Given the description of an element on the screen output the (x, y) to click on. 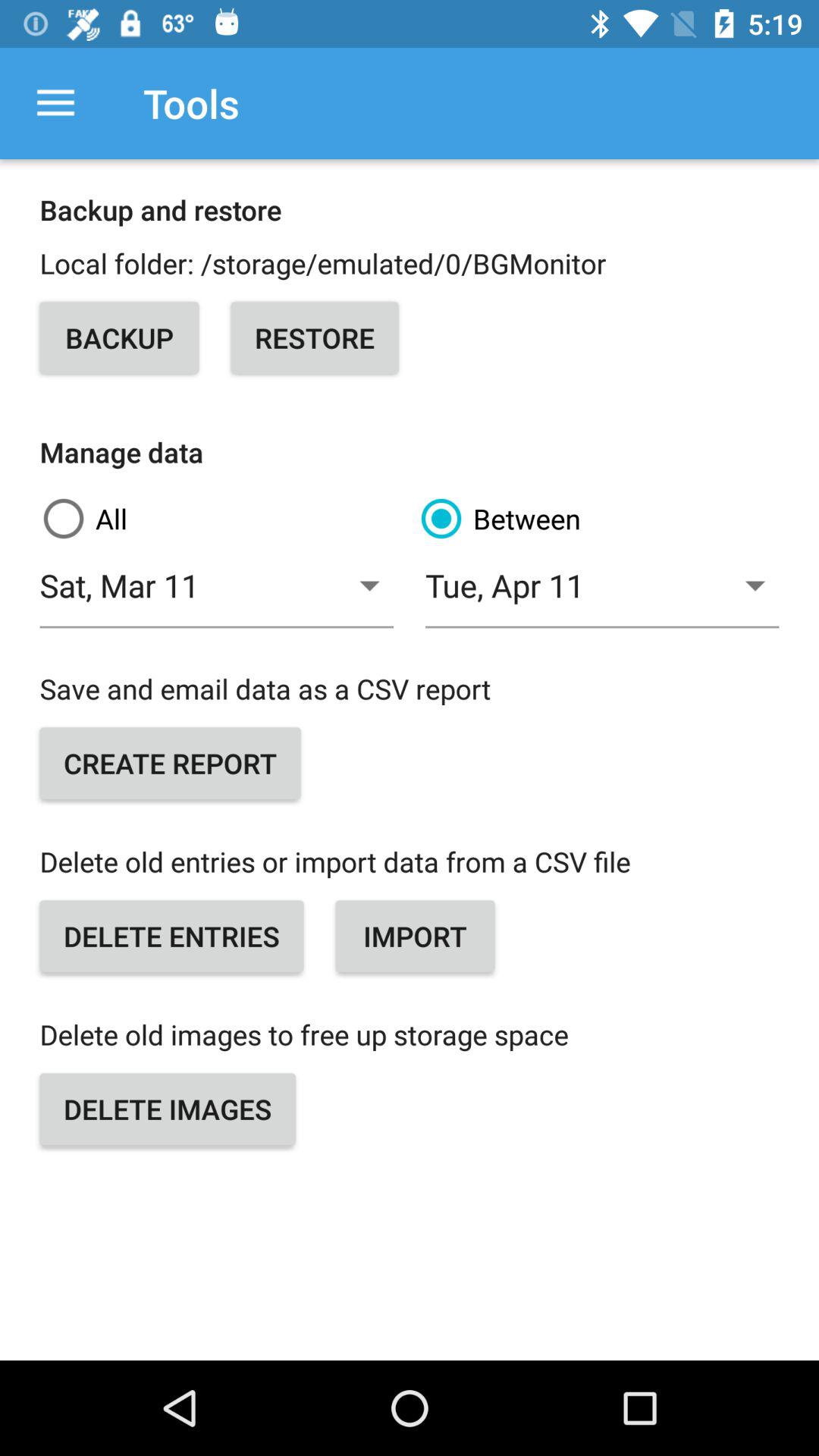
flip until between icon (598, 518)
